Given the description of an element on the screen output the (x, y) to click on. 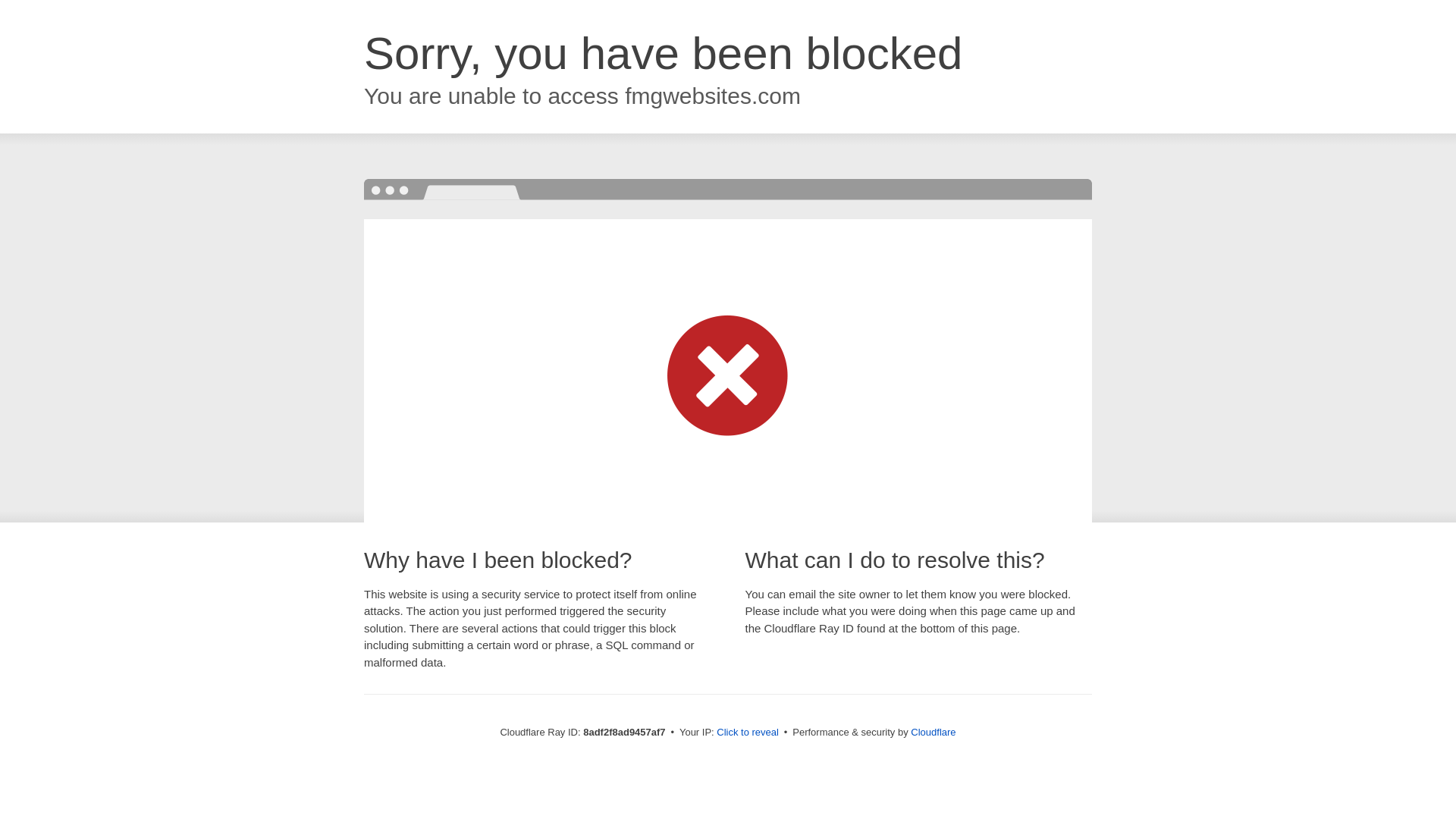
Click to reveal (747, 732)
Cloudflare (933, 731)
